Given the description of an element on the screen output the (x, y) to click on. 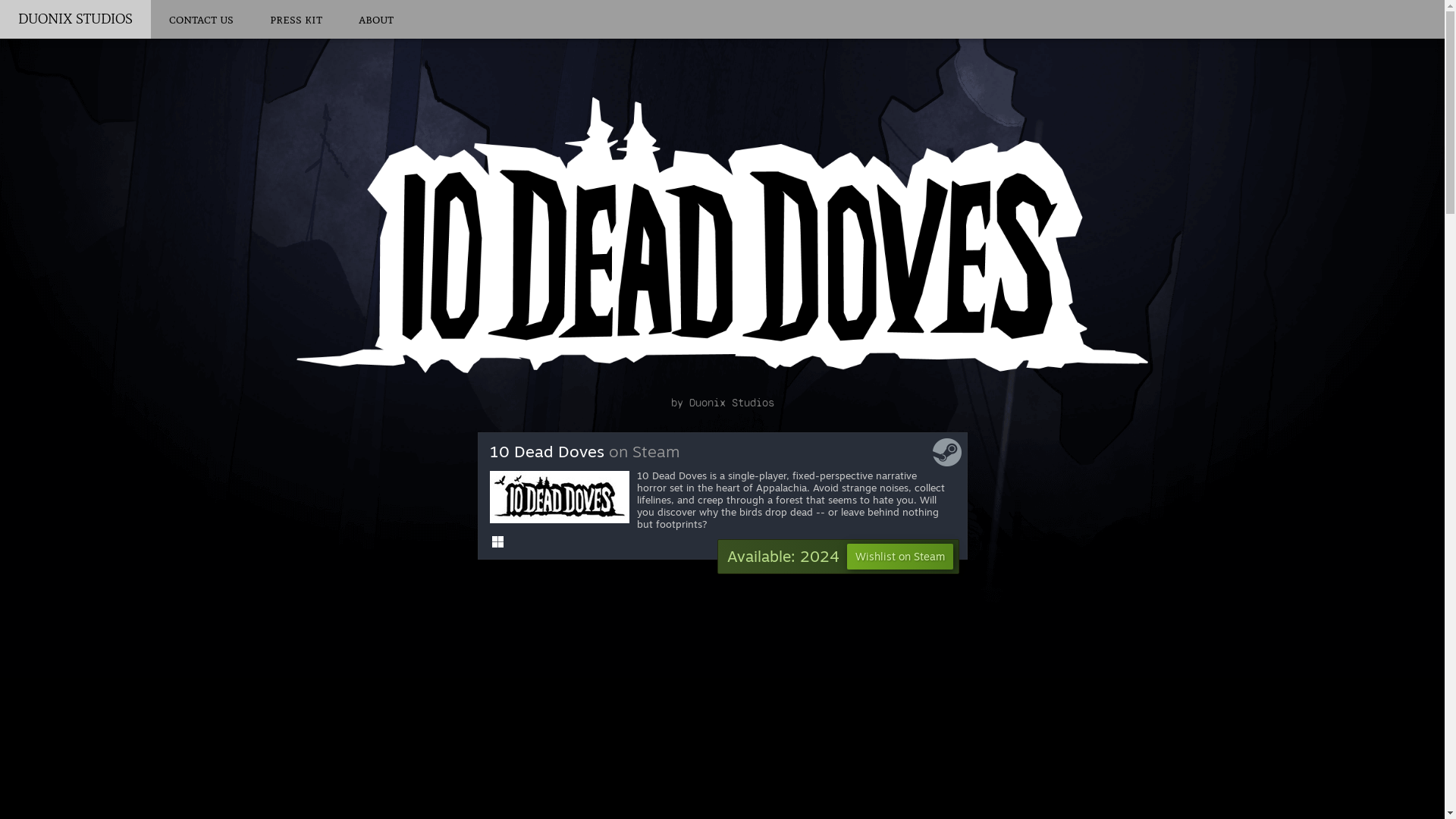
contact us Element type: text (200, 19)
press kit Element type: text (295, 19)
DUONIX STUDIOS Element type: text (75, 19)
about Element type: text (375, 19)
